Given the description of an element on the screen output the (x, y) to click on. 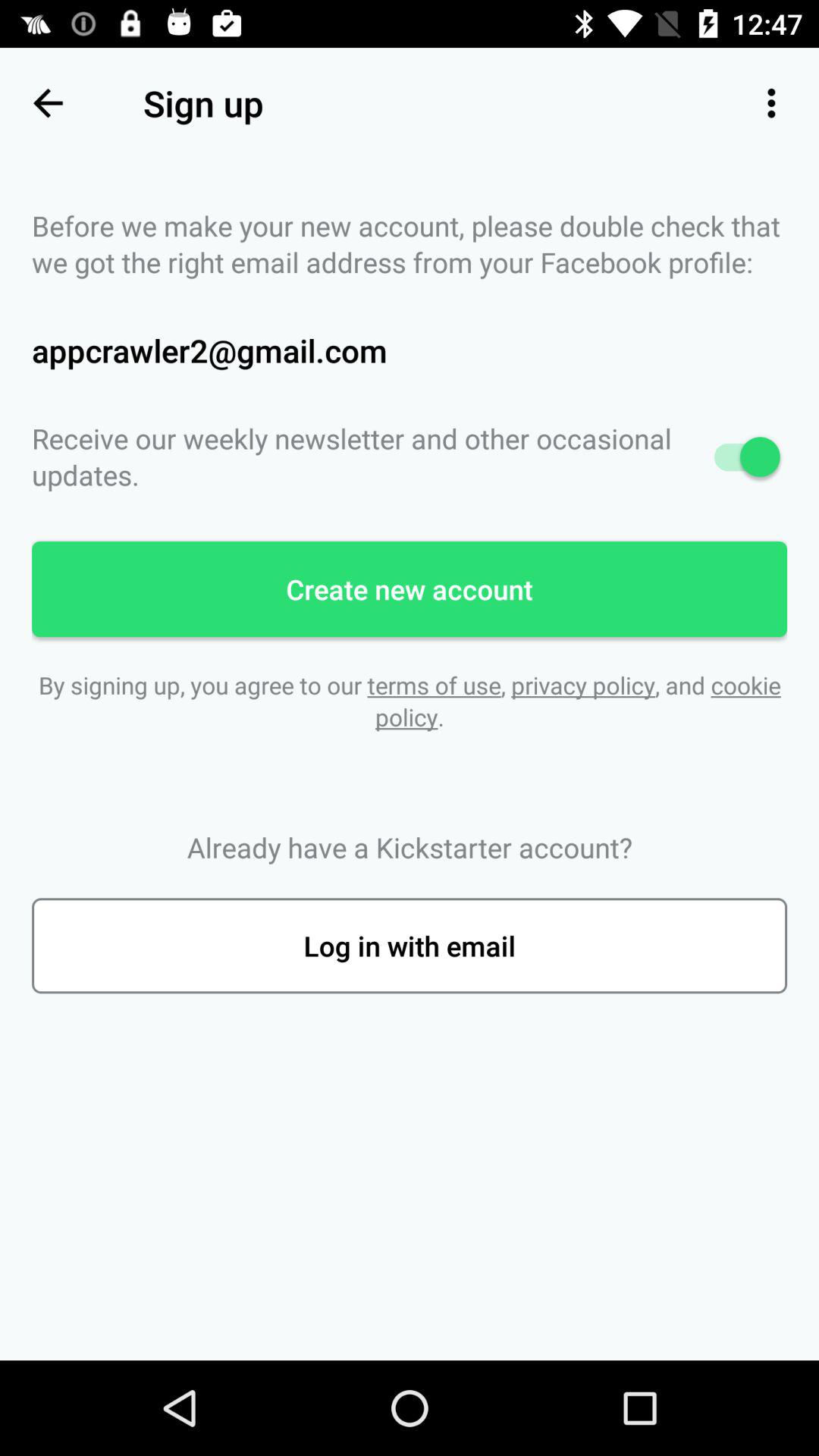
press the log in with icon (409, 945)
